Given the description of an element on the screen output the (x, y) to click on. 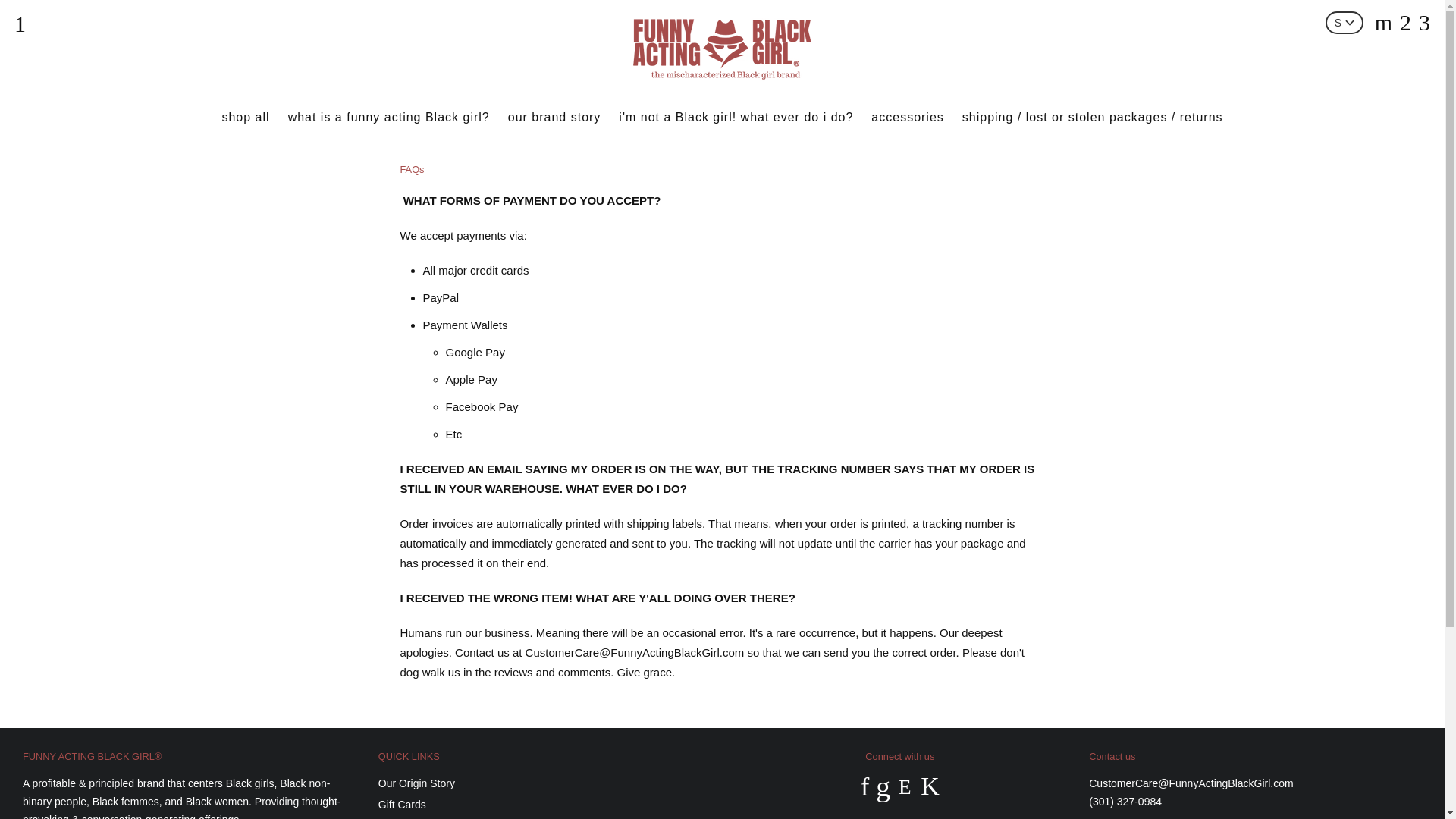
accessories (906, 117)
what is a funny acting Black girl? (389, 117)
i'm not a Black girl! what ever do i do? (735, 117)
shop all (245, 117)
our brand story (554, 117)
Funny Acting Black Girl on Tiktok (929, 786)
Funny Acting Black Girl on Facebook (864, 786)
Funny Acting Black Girl on X (882, 786)
Funny Acting Black Girl on Instagram (904, 786)
